Given the description of an element on the screen output the (x, y) to click on. 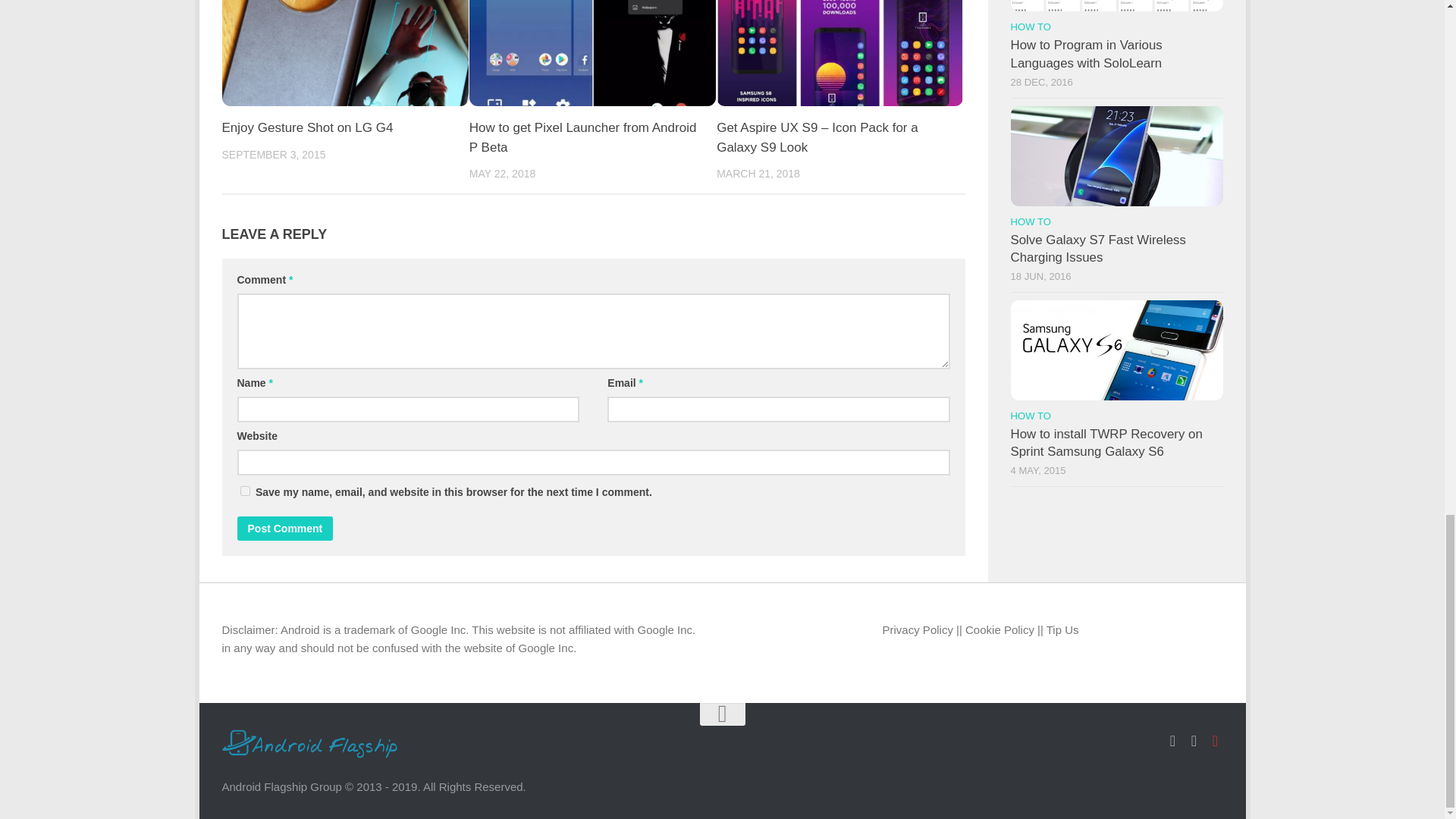
Permalink to Enjoy Gesture Shot on LG G4 (307, 127)
Enjoy Gesture Shot on LG G4 (307, 127)
Permalink to How to get Pixel Launcher from Android P Beta (582, 137)
yes (244, 491)
Post Comment (284, 528)
Post Comment (284, 528)
How to get Pixel Launcher from Android P Beta (582, 137)
